Given the description of an element on the screen output the (x, y) to click on. 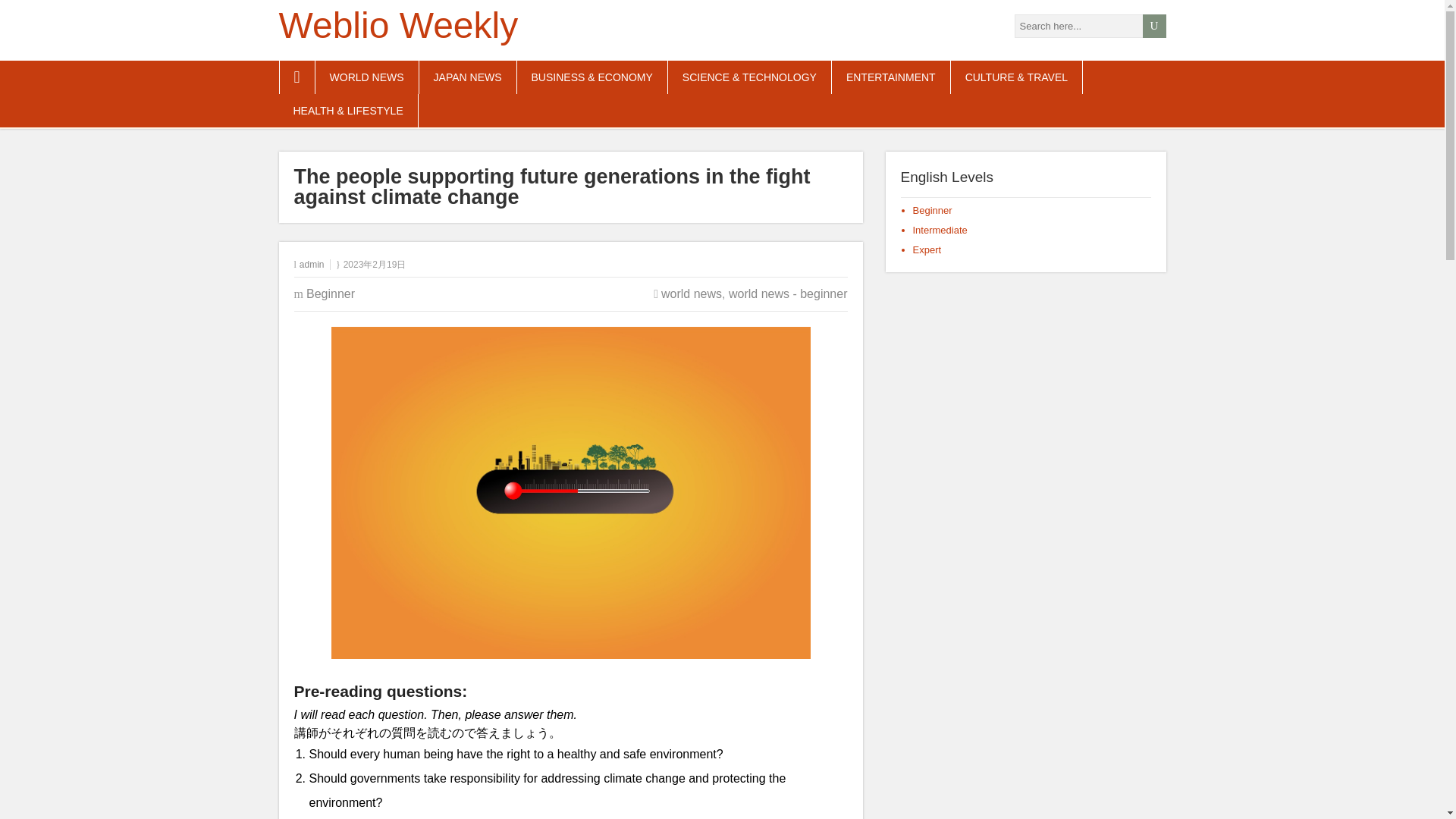
Expert (927, 249)
Posts by admin (311, 264)
WORLD NEWS (367, 77)
U (1153, 25)
Weblio Weekly (398, 24)
Intermediate (940, 229)
world news - beginner (788, 293)
world news (691, 293)
ENTERTAINMENT (890, 77)
U (1153, 25)
JAPAN NEWS (467, 77)
Beginner (330, 293)
U (1153, 25)
Beginner (932, 210)
admin (311, 264)
